Given the description of an element on the screen output the (x, y) to click on. 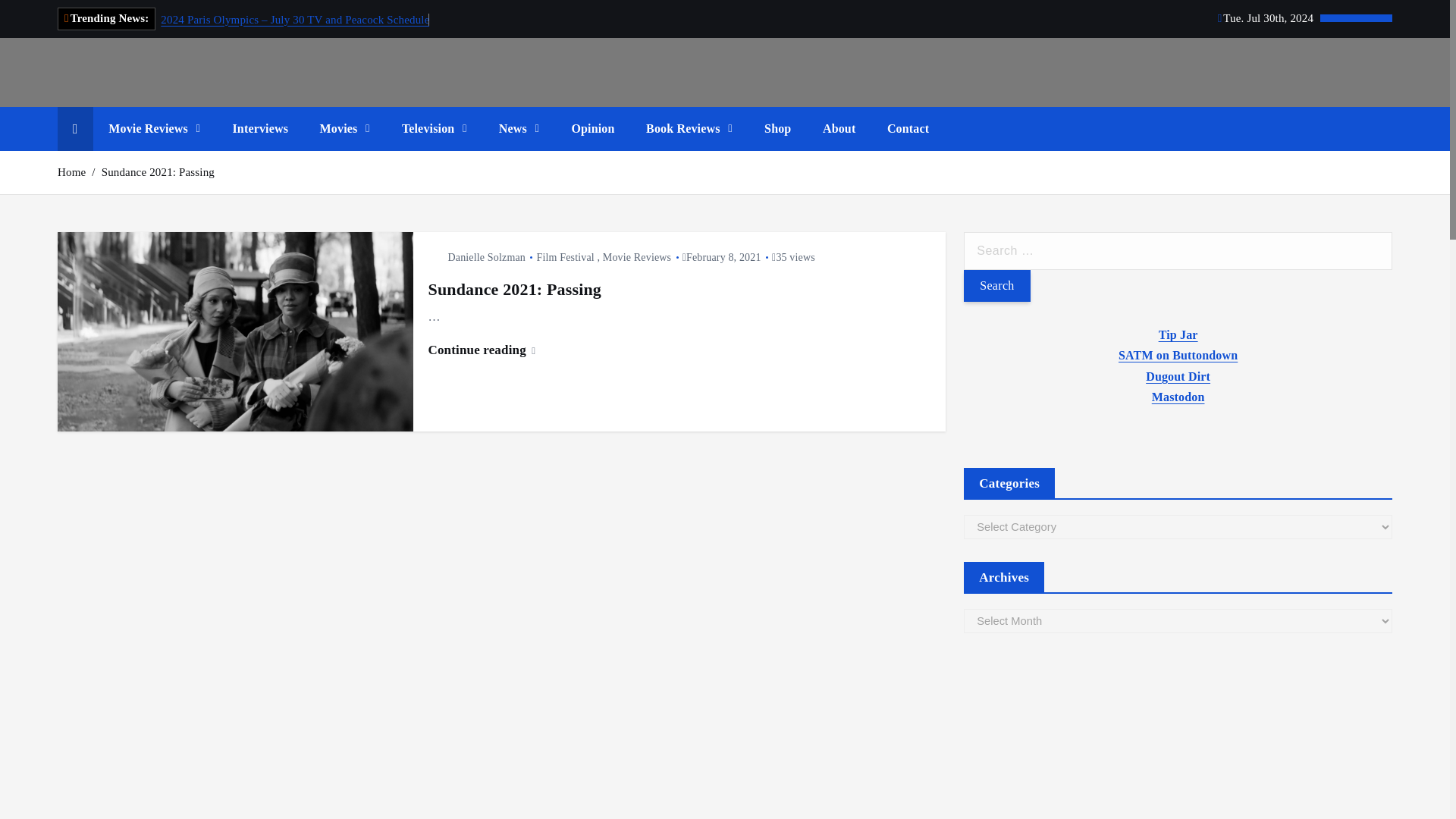
Interviews (259, 128)
Search (996, 286)
Movie Reviews (154, 128)
Search (996, 286)
Movies (344, 128)
